Given the description of an element on the screen output the (x, y) to click on. 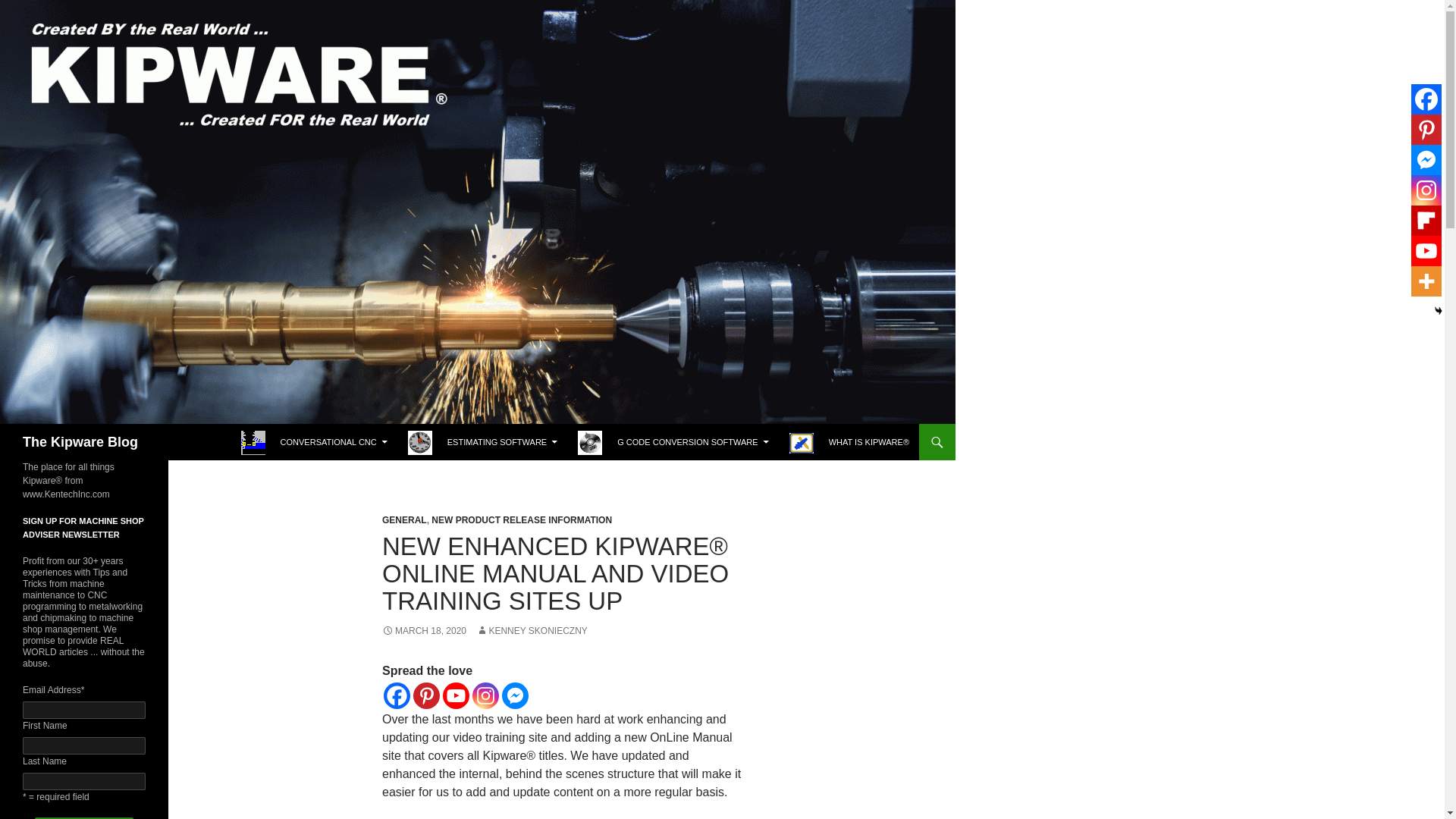
MARCH 18, 2020 (423, 630)
ESTIMATING SOFTWARE (482, 442)
NEW PRODUCT RELEASE INFORMATION (520, 520)
G CODE CONVERSION SOFTWARE (673, 442)
Youtube (455, 695)
Pinterest (1425, 129)
CONVERSATIONAL CNC (313, 442)
GENERAL (403, 520)
Subscribe (83, 818)
Instagram (1425, 190)
Instagram (485, 695)
Facebook (397, 695)
The Kipware Blog (80, 442)
Youtube (1425, 250)
